Given the description of an element on the screen output the (x, y) to click on. 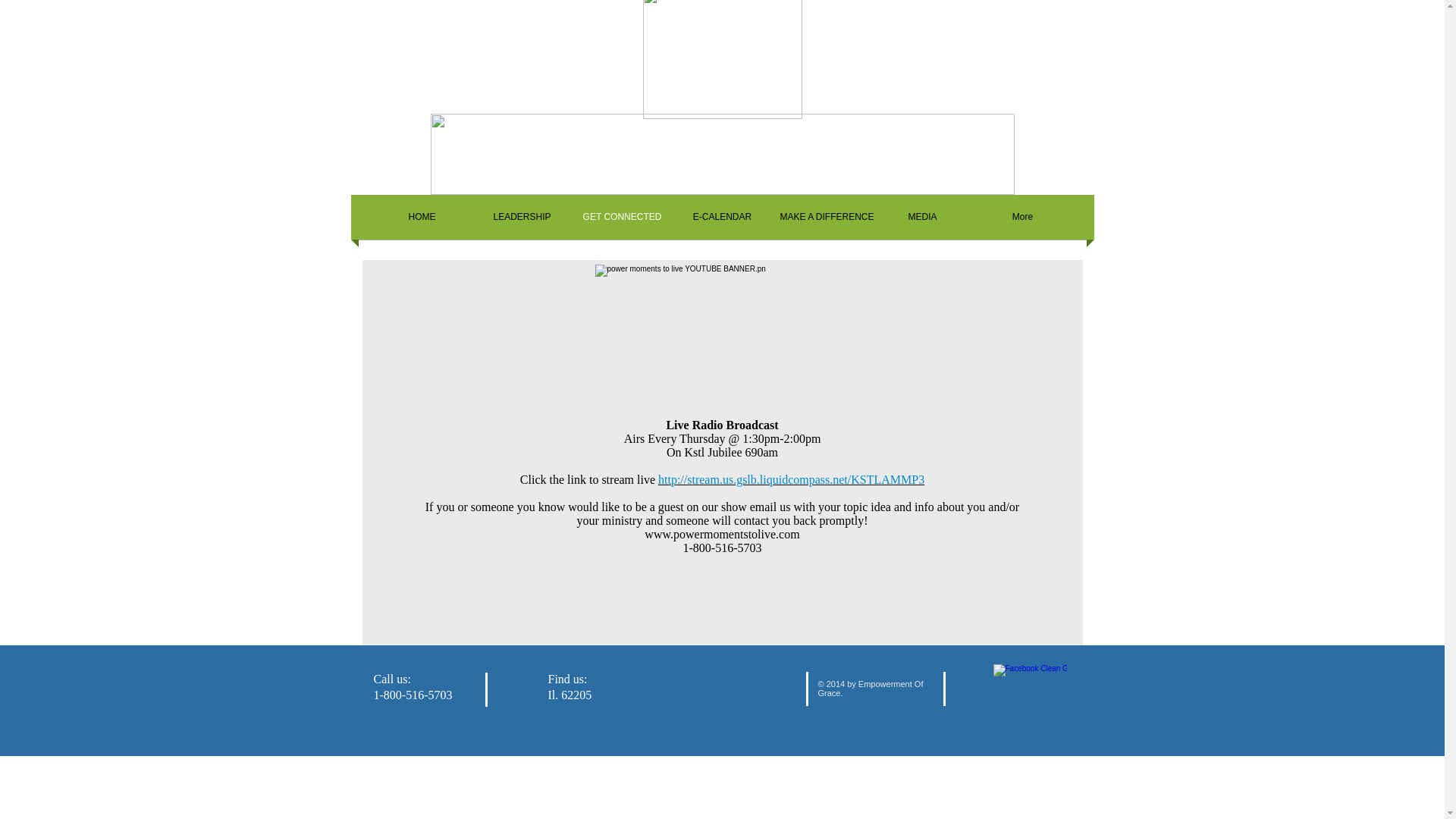
www.powermomentstolive.com (722, 533)
E-CALENDAR (721, 216)
GET CONNECTED (621, 216)
empowerment.png (722, 153)
HOME (421, 216)
MEDIA (922, 216)
MAKE A DIFFERENCE (821, 216)
LEADERSHIP (521, 216)
